Given the description of an element on the screen output the (x, y) to click on. 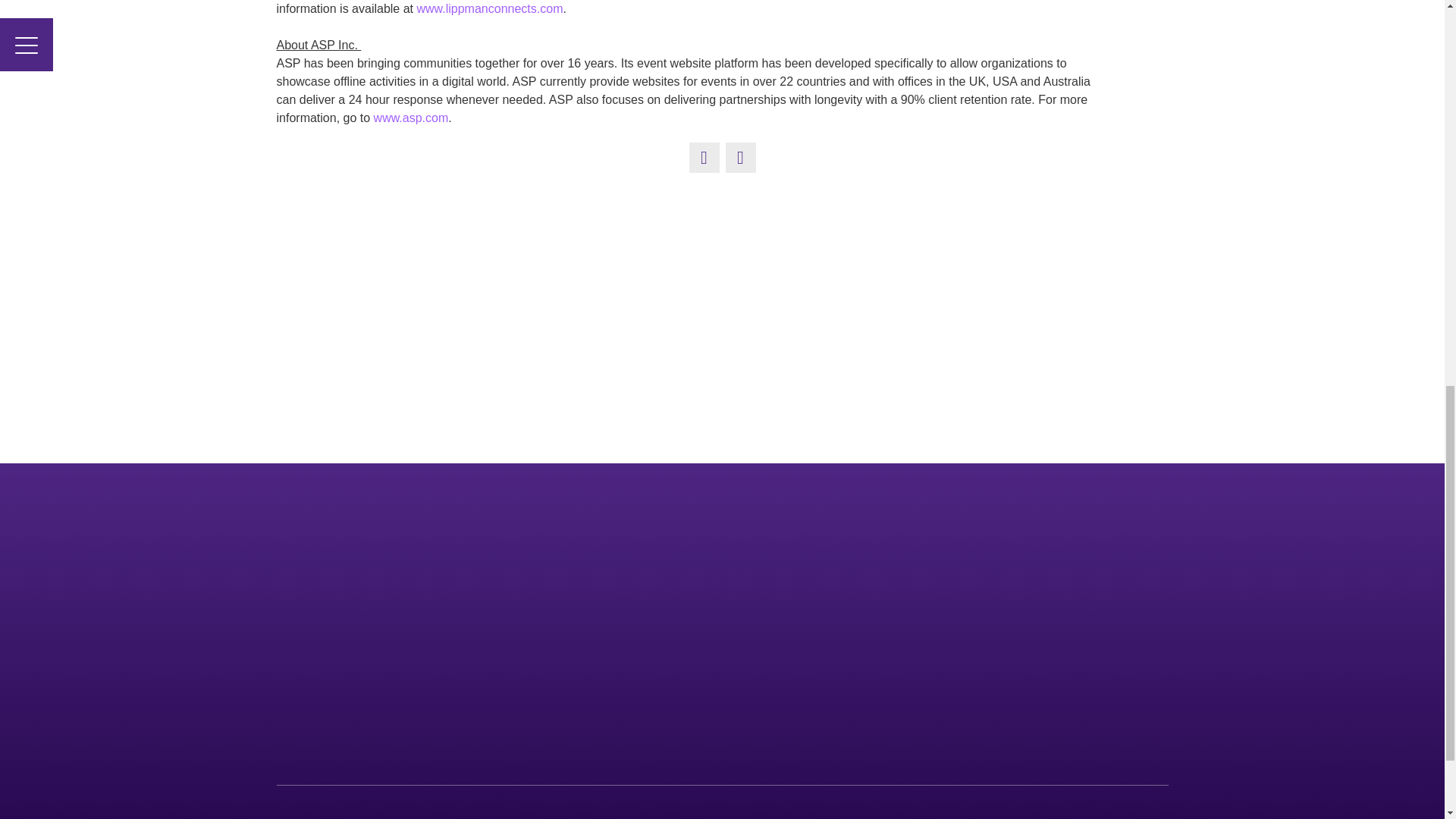
www.lippmanconnects.com (489, 8)
www.asp.com (411, 117)
